Given the description of an element on the screen output the (x, y) to click on. 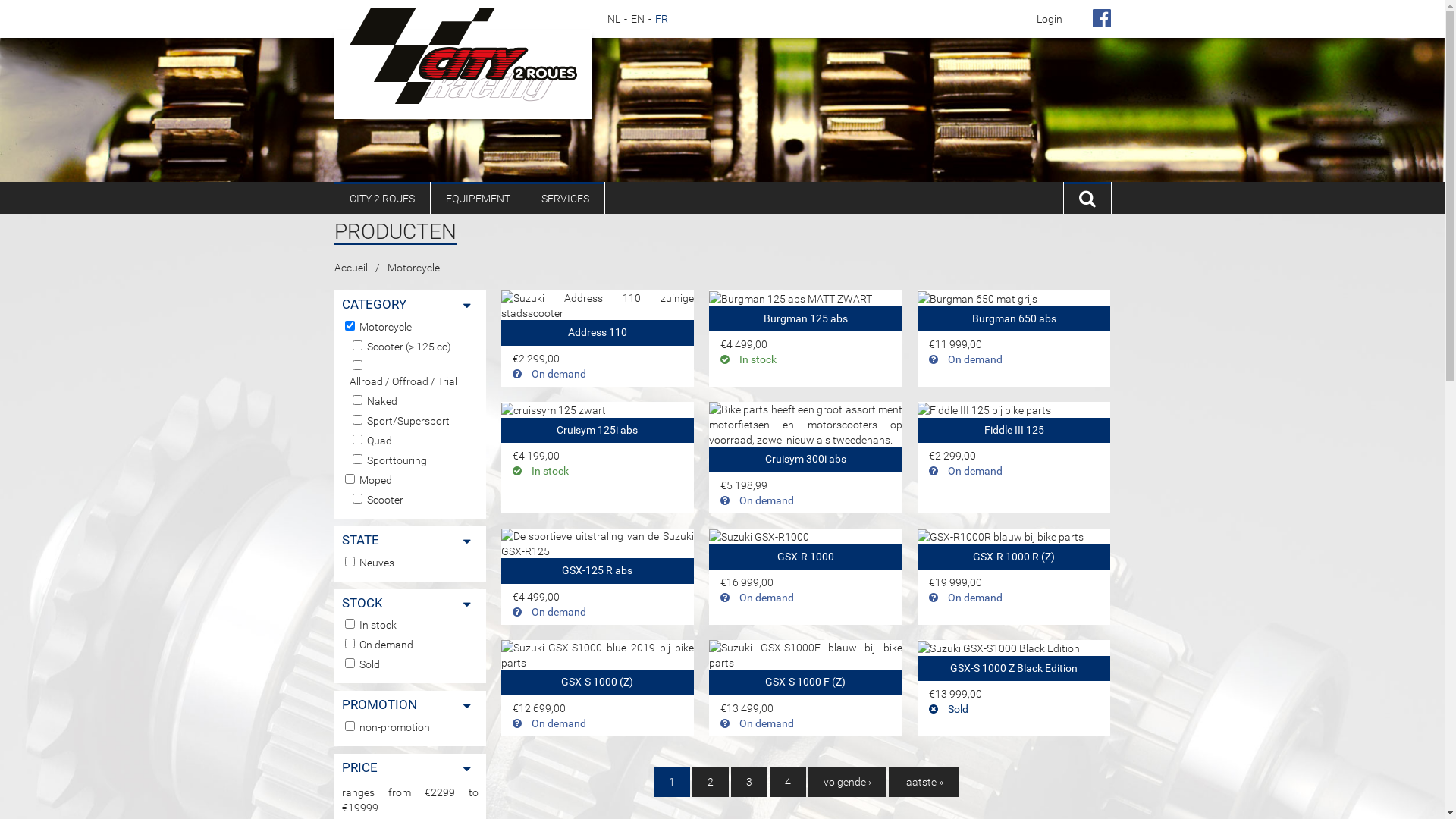
non-promotion
Apply non-promotion filter Element type: text (394, 726)
City 2 Roues Element type: hover (462, 55)
Aller au contenu principal Element type: text (59, 0)
Sport/Supersport
Apply Sport/Supersport filter Element type: text (408, 420)
EQUIPEMENT Element type: text (477, 197)
Moped
Apply Moped filter Element type: text (375, 479)
Suzuki GSX-S1000F blauw Element type: hover (805, 655)
Quad
Apply Quad filter Element type: text (379, 440)
De sportieve neus van de Suzuki GSX-R125 Element type: hover (596, 543)
Suzuki GSX-S1000 blue 2019 Element type: hover (596, 655)
In stock
Apply In stock filter Element type: text (377, 624)
Scooter (> 125 cc)
Apply Scooter (> 125 cc) filter Element type: text (409, 346)
GSX-R1000R blauw Element type: hover (1000, 536)
Suzuki Address 110  zuinige stadsscooter Element type: hover (596, 305)
EN Element type: text (637, 18)
Sold
Apply Sold filter Element type: text (369, 663)
2 Element type: text (709, 781)
Scooter
Apply Scooter filter Element type: text (385, 499)
CITY 2 ROUES Element type: text (381, 197)
On demand
Apply On demand filter Element type: text (386, 644)
SERVICES Element type: text (565, 197)
Naked
Apply Naked filter Element type: text (382, 400)
Sporttouring
Apply Sporttouring filter Element type: text (396, 459)
Burgman 125 abs MATT ZWART Element type: hover (790, 298)
Suzuki GSX-S1000 Black Edition bij bike parts Element type: hover (998, 647)
Suzuki GSX-R1000 bij bike parts Element type: hover (759, 536)
3 Element type: text (749, 781)
NL Element type: text (612, 18)
Accueil Element type: text (350, 267)
FR Element type: text (661, 18)
Neuves
Apply Neuves filter Element type: text (376, 562)
cruissym 125 zwart Element type: hover (552, 409)
Burgman 650 mat grijs leverbaar bij Bike Parts  Element type: hover (977, 298)
Login Element type: text (1048, 18)
Fiddle III  125 bij bike parts Element type: hover (984, 409)
4 Element type: text (786, 781)
